Given the description of an element on the screen output the (x, y) to click on. 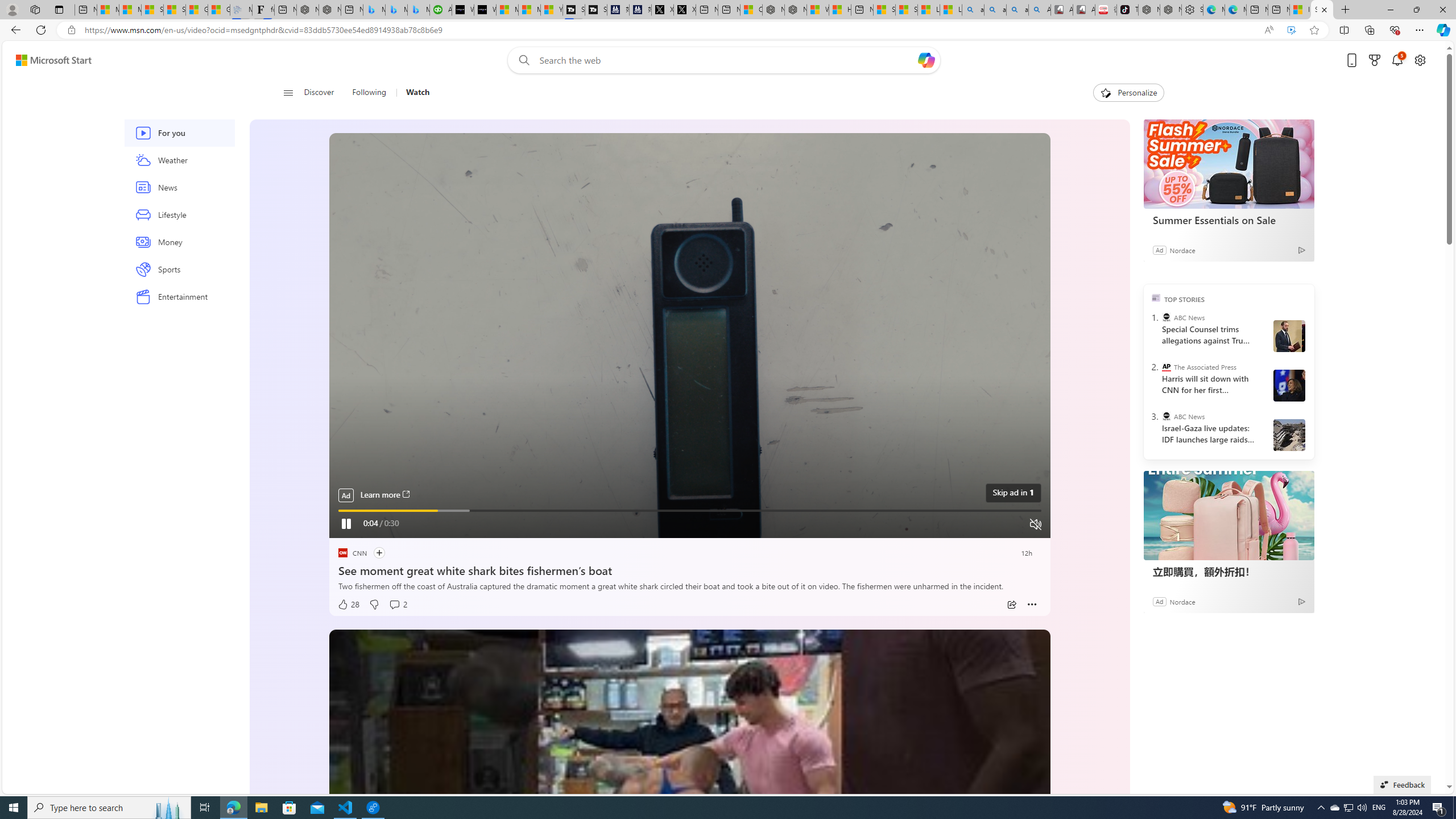
Summer Essentials on Sale (1227, 219)
The Associated Press (1165, 366)
Accounting Software for Accountants, CPAs and Bookkeepers (441, 9)
